Given the description of an element on the screen output the (x, y) to click on. 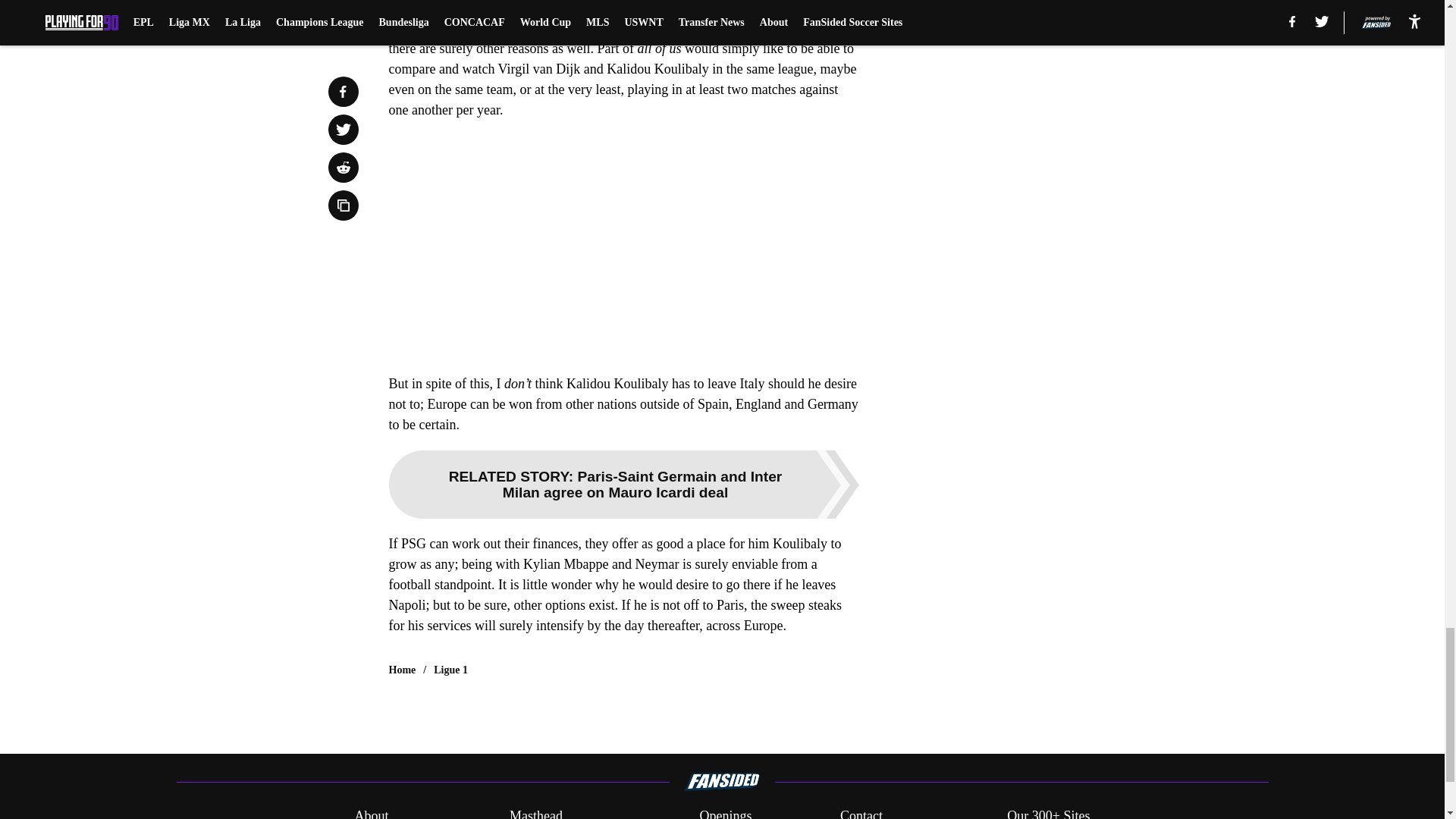
Home (401, 670)
Ligue 1 (450, 670)
